Given the description of an element on the screen output the (x, y) to click on. 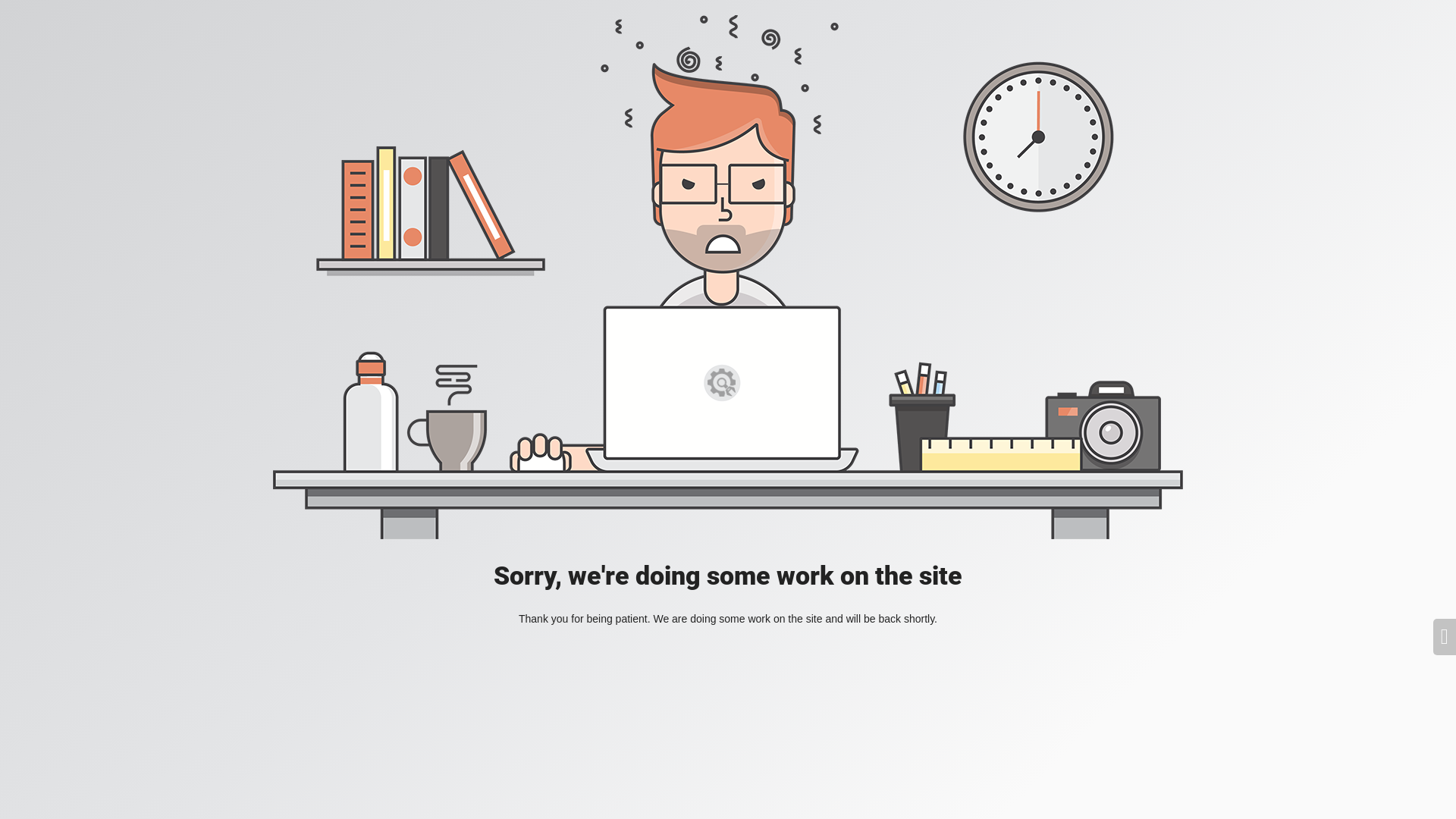
Mad Designer at work Element type: hover (728, 277)
